Given the description of an element on the screen output the (x, y) to click on. 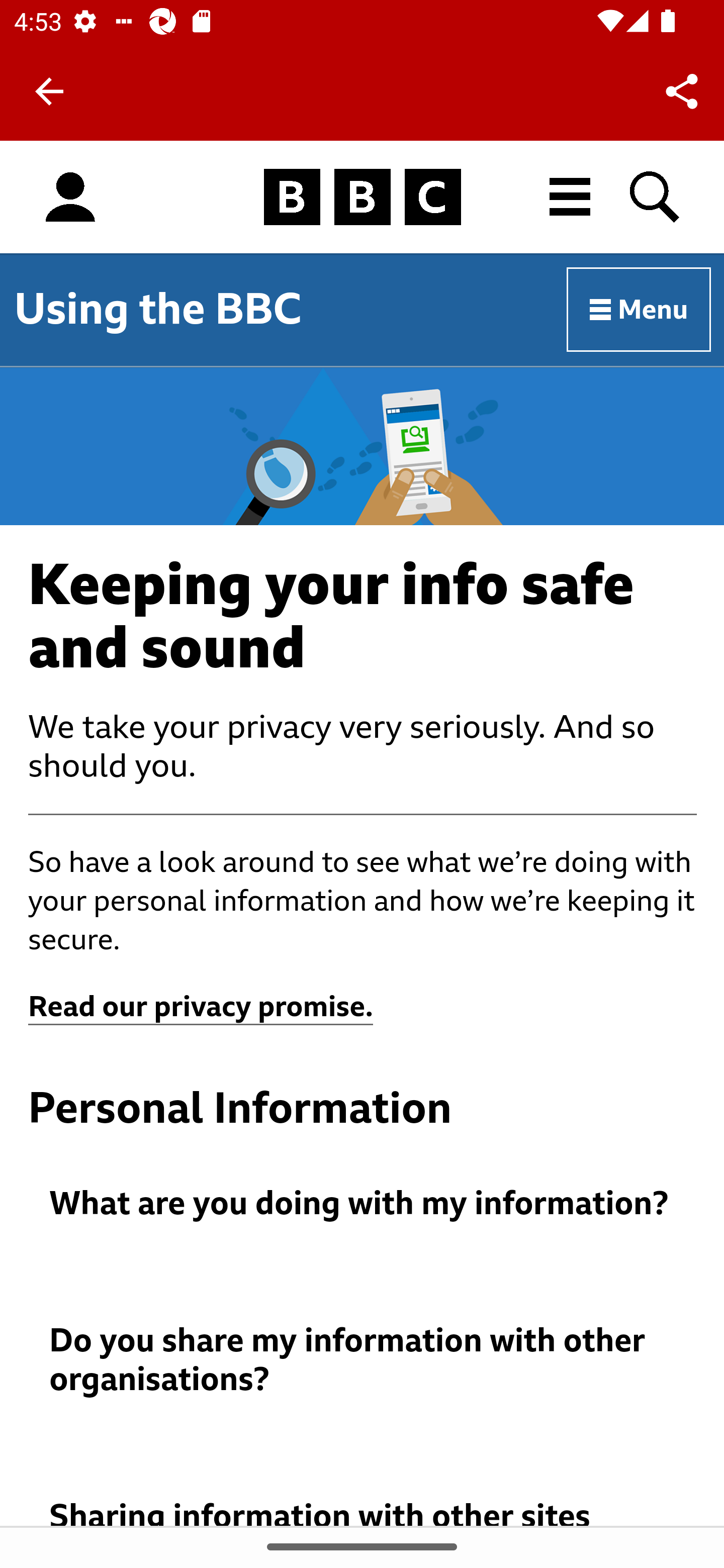
Back (49, 91)
Share (681, 90)
All BBC destinations menu (570, 197)
Search BBC (655, 197)
Sign in (70, 198)
Homepage (361, 198)
Menu (639, 310)
Using the BBC (157, 308)
Read our privacy promise. (201, 1007)
What are you doing with my information? (362, 1203)
Sharing information with other sites (362, 1511)
